Given the description of an element on the screen output the (x, y) to click on. 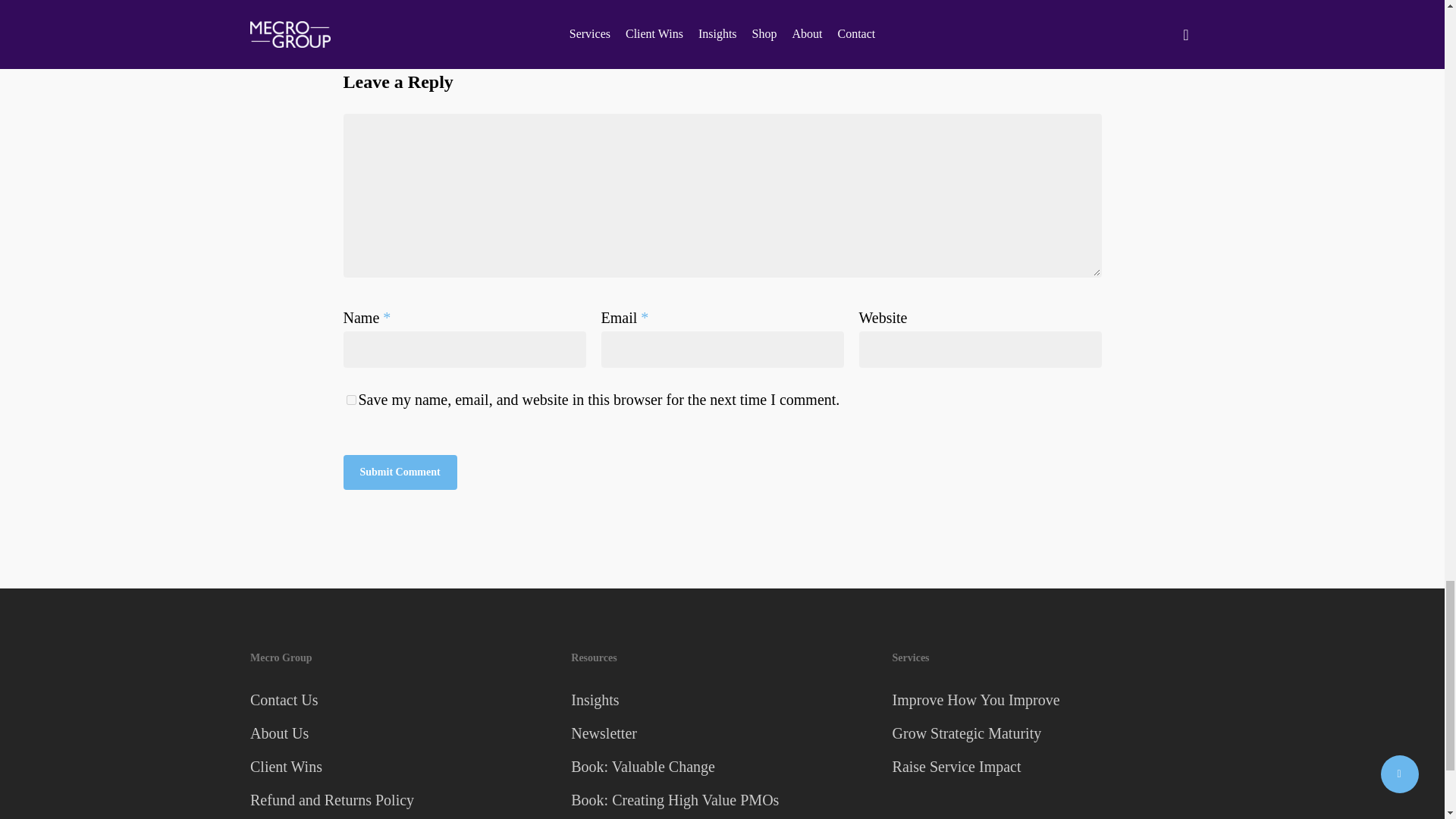
Insights (721, 699)
Contact Us (400, 699)
Raise Service Impact (1042, 766)
About Us (400, 732)
Book: Creating High Value PMOs (721, 800)
Submit Comment (399, 472)
Newsletter (721, 732)
Refund and Returns Policy (400, 800)
Client Wins (400, 766)
Grow Strategic Maturity (1042, 732)
Improve How You Improve (1042, 699)
yes (350, 399)
Book: Valuable Change (721, 766)
Submit Comment (399, 472)
